Given the description of an element on the screen output the (x, y) to click on. 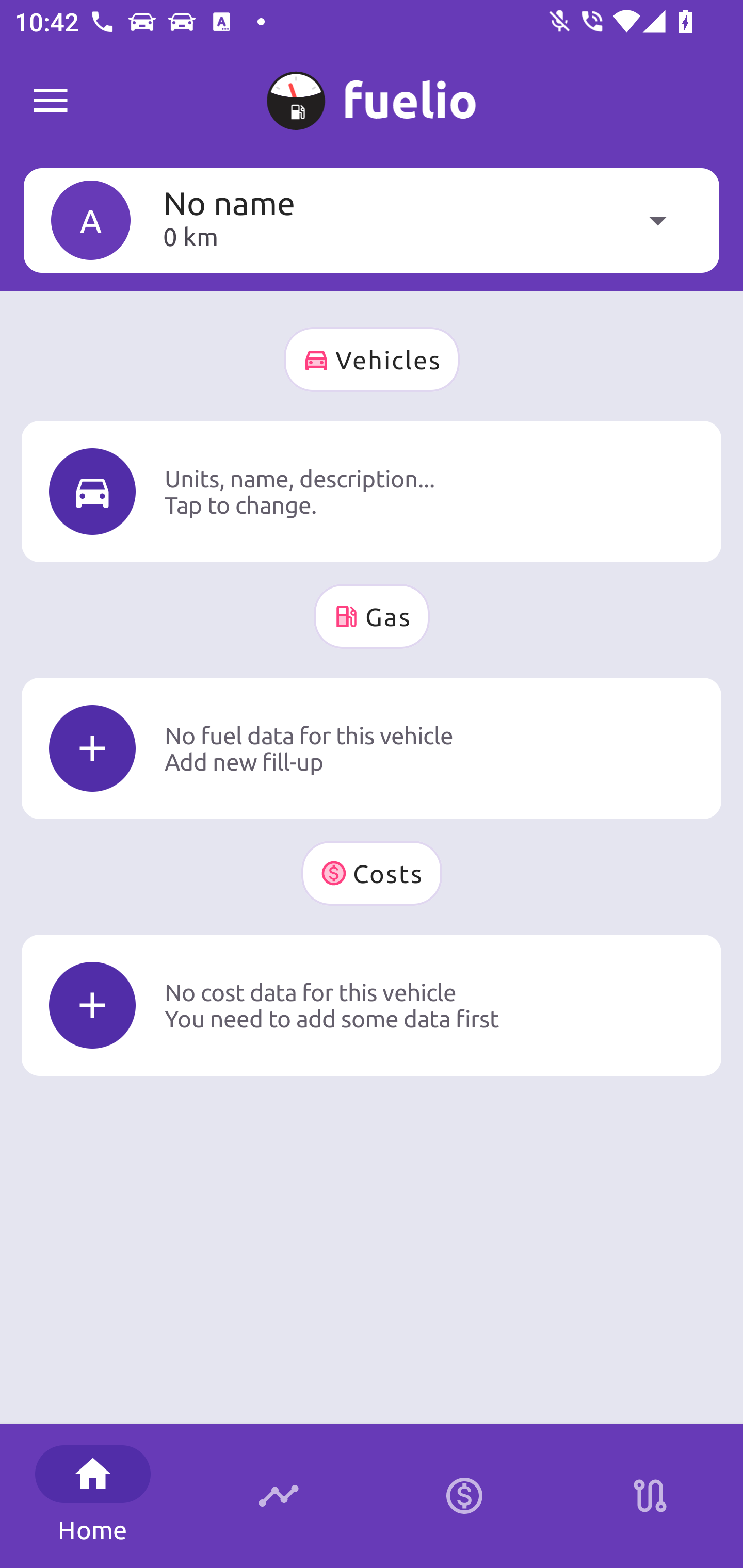
Fuelio (50, 101)
A No name 0 km (371, 219)
Vehicles (371, 359)
Icon Units, name, description...
Tap to change. (371, 491)
Icon (92, 491)
Gas (371, 616)
Icon No fuel data for this vehicle
Add new fill-up (371, 747)
Icon (92, 748)
Costs (371, 873)
Icon (92, 1004)
Timeline (278, 1495)
Calculator (464, 1495)
Stations on route (650, 1495)
